Given the description of an element on the screen output the (x, y) to click on. 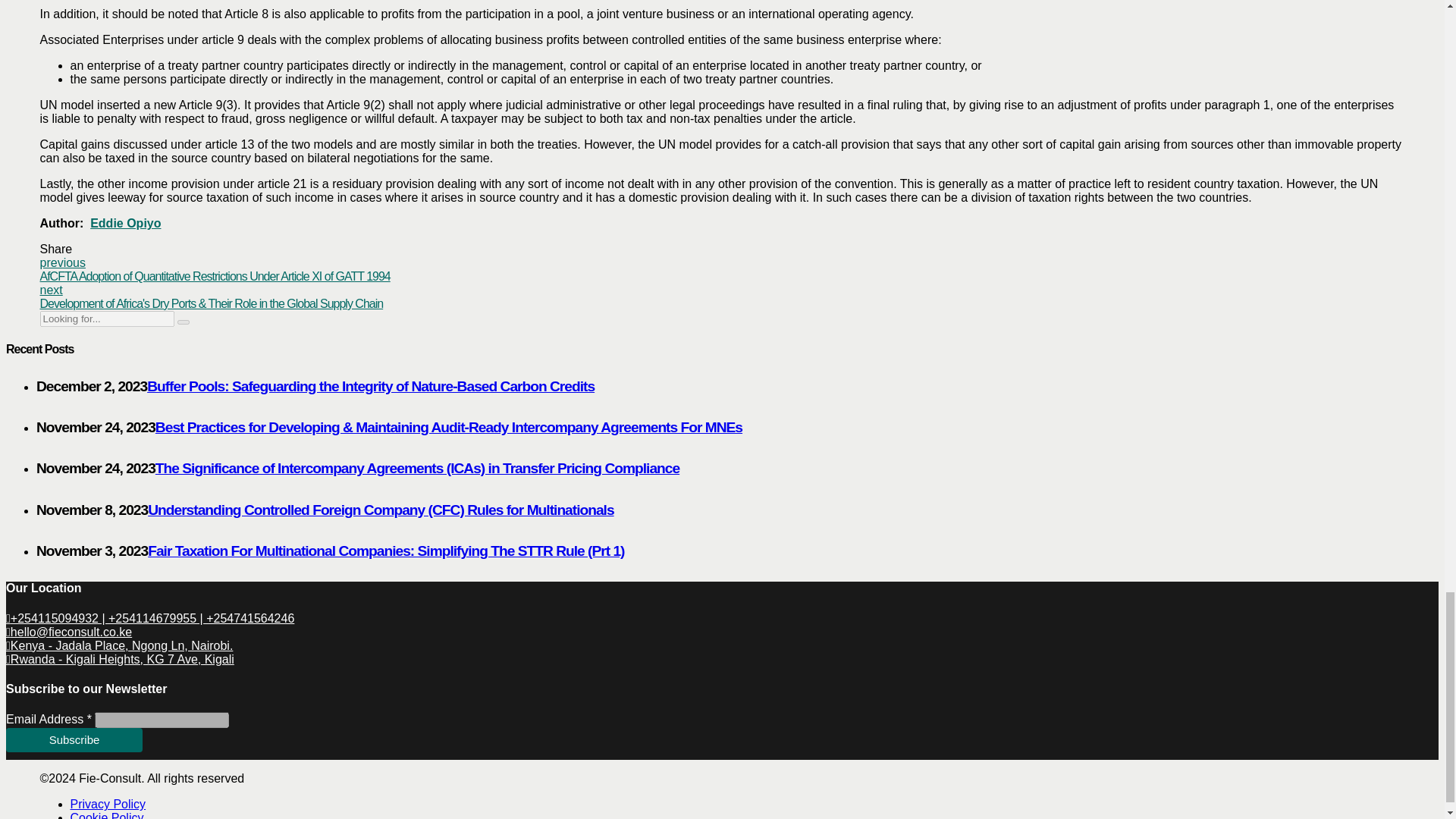
Kenya - Jadala Place, Ngong Ln, Nairobi. (118, 645)
Rwanda - Kigali Heights, KG 7 Ave, Kigali (119, 658)
Eddie Opiyo (125, 223)
Subscribe (73, 740)
